Given the description of an element on the screen output the (x, y) to click on. 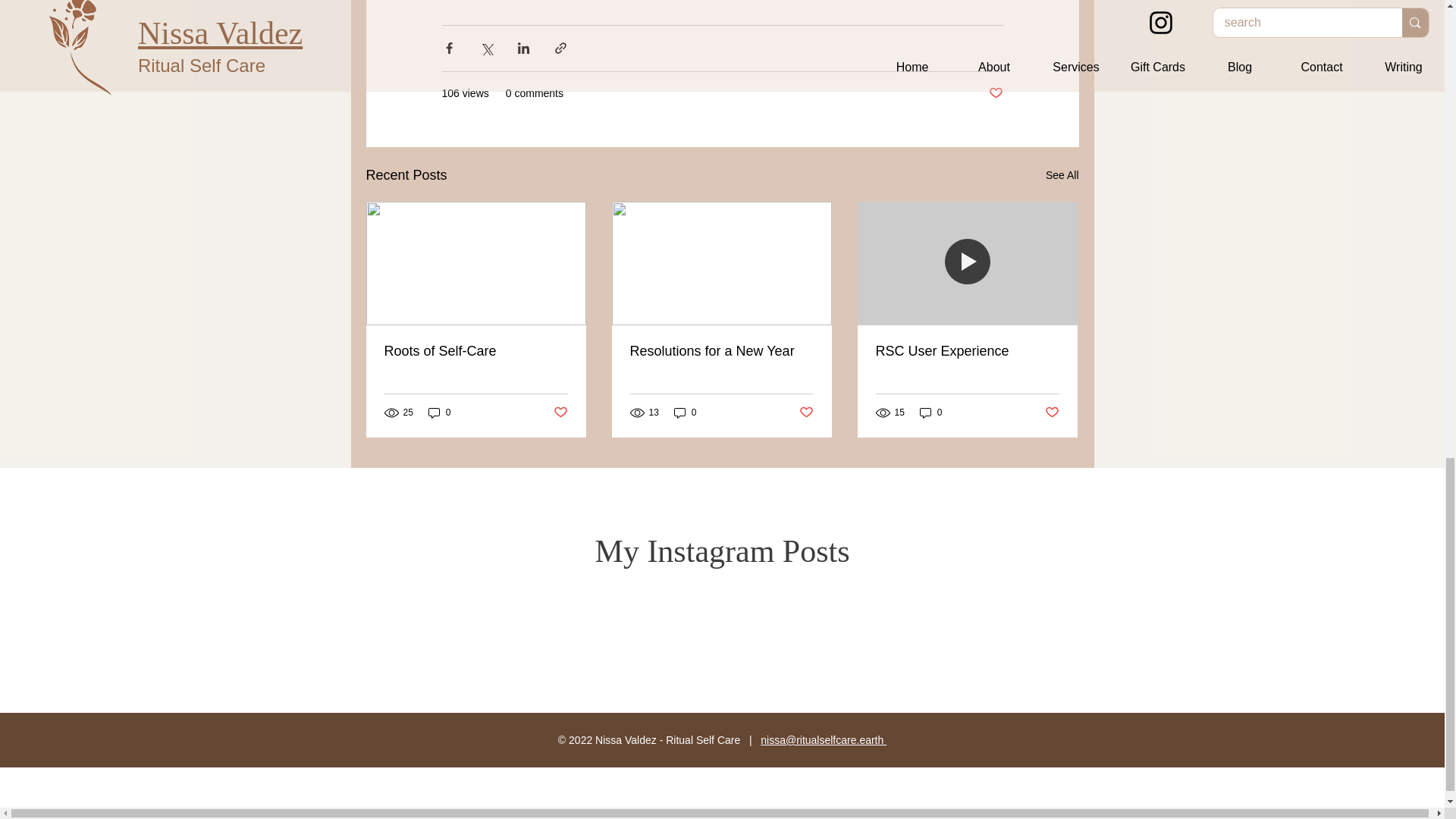
See All (1061, 175)
Post not marked as liked (806, 412)
0 (930, 412)
0 (439, 412)
Post not marked as liked (1052, 412)
RSC User Experience (966, 351)
Post not marked as liked (560, 412)
0 (685, 412)
Resolutions for a New Year (720, 351)
Post not marked as liked (995, 93)
